Given the description of an element on the screen output the (x, y) to click on. 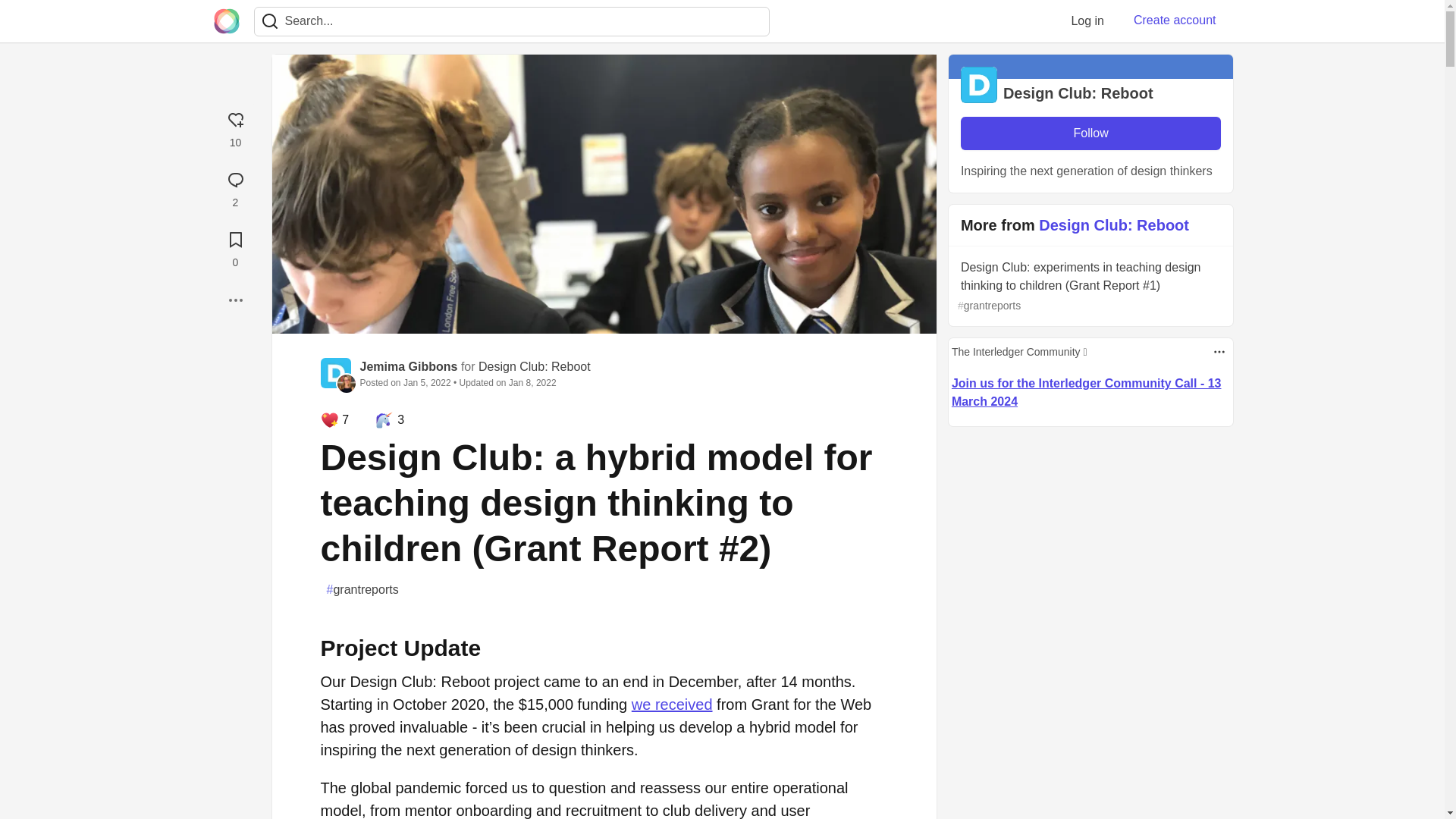
More... (234, 299)
Jemima Gibbons (408, 366)
Design Club: Reboot (535, 366)
Dropdown menu (1218, 352)
More... (234, 300)
2 (235, 187)
we received (672, 704)
0 (235, 247)
Log in (1087, 20)
Wednesday, January 5, 2022 at 10:05:56 AM (427, 382)
Create account (1174, 20)
Saturday, January 8, 2022 at 12:11:39 AM (532, 382)
